Given the description of an element on the screen output the (x, y) to click on. 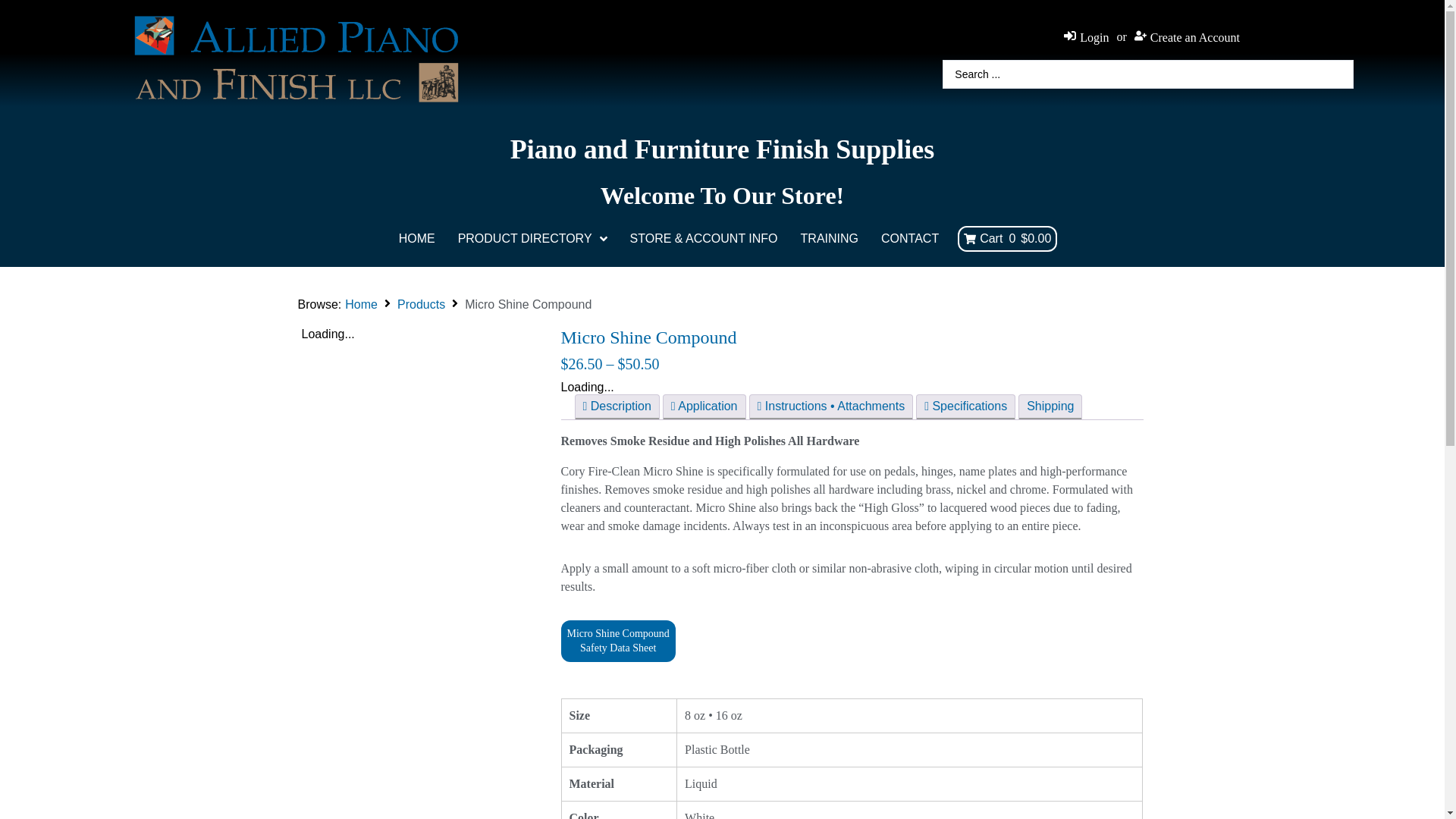
PRODUCT DIRECTORY (532, 238)
Home (361, 305)
View your shopping cart (1007, 238)
HOME (416, 238)
Home (361, 305)
Specifications (965, 405)
CONTACT (909, 238)
TRAINING (829, 238)
Application (704, 405)
Create an Account (1187, 37)
